Given the description of an element on the screen output the (x, y) to click on. 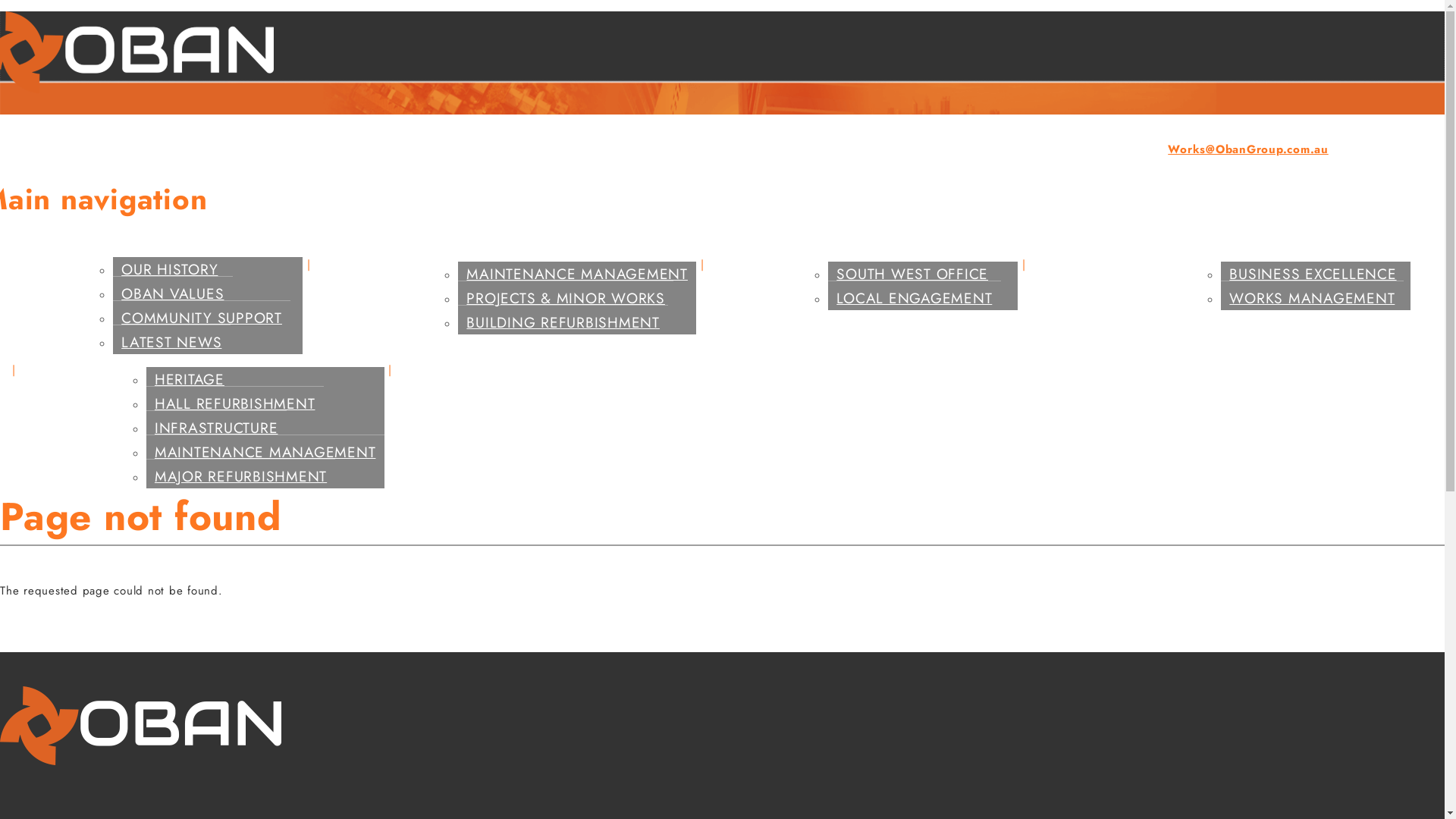
LOCAL ENGAGEMENT Element type: text (914, 297)
OBAN VALUES Element type: text (172, 293)
COMMUNITY SUPPORT Element type: text (201, 317)
BUSINESS EXCELLENCE Element type: text (1312, 273)
Works@ObanGroup.com.au Element type: text (1247, 149)
MAJOR REFURBISHMENT Element type: text (240, 475)
INFRASTRUCTURE Element type: text (216, 427)
ABOUT US Element type: text (62, 299)
BUILDING REFURBISHMENT Element type: text (563, 321)
MAINTENANCE MANAGEMENT Element type: text (577, 273)
WORKS MANAGEMENT Element type: text (1311, 297)
Skip to main content Element type: text (0, 11)
HERITAGE Element type: text (189, 378)
SOUTH WEST OFFICE Element type: text (912, 273)
MAINTENANCE MANAGEMENT Element type: text (265, 451)
LATEST NEWS Element type: text (171, 341)
CONTACT US Element type: text (446, 373)
HALL REFURBISHMENT Element type: text (234, 402)
PROJECTS & MINOR WORKS Element type: text (565, 297)
OUR HISTORY Element type: text (169, 268)
